Given the description of an element on the screen output the (x, y) to click on. 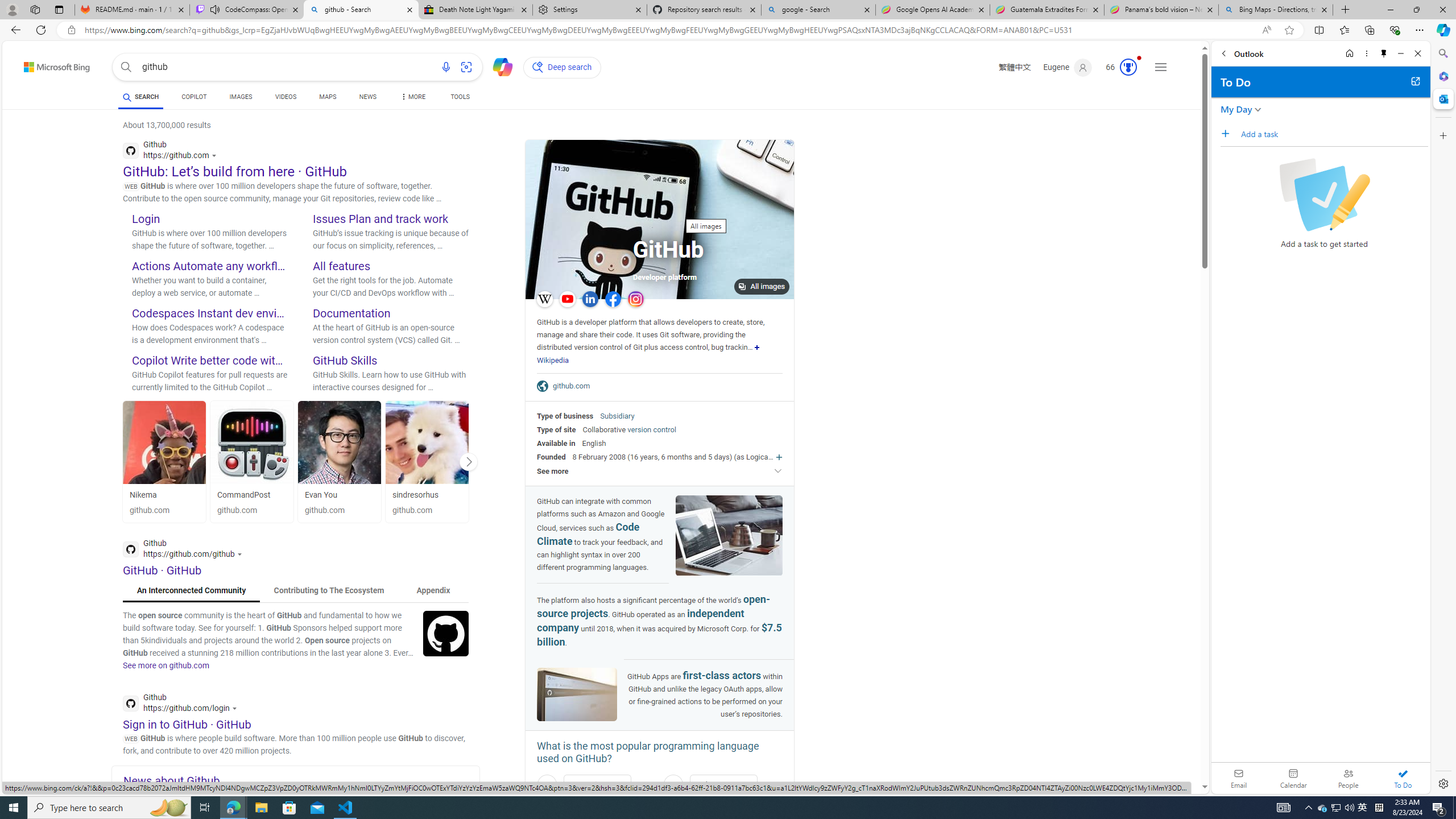
Founded (551, 456)
NEWS (367, 98)
Mute tab (215, 8)
Evan You (339, 494)
Nikema (164, 494)
bing.com/news (301, 793)
MAPS (327, 98)
Open in new tab (1414, 80)
